Given the description of an element on the screen output the (x, y) to click on. 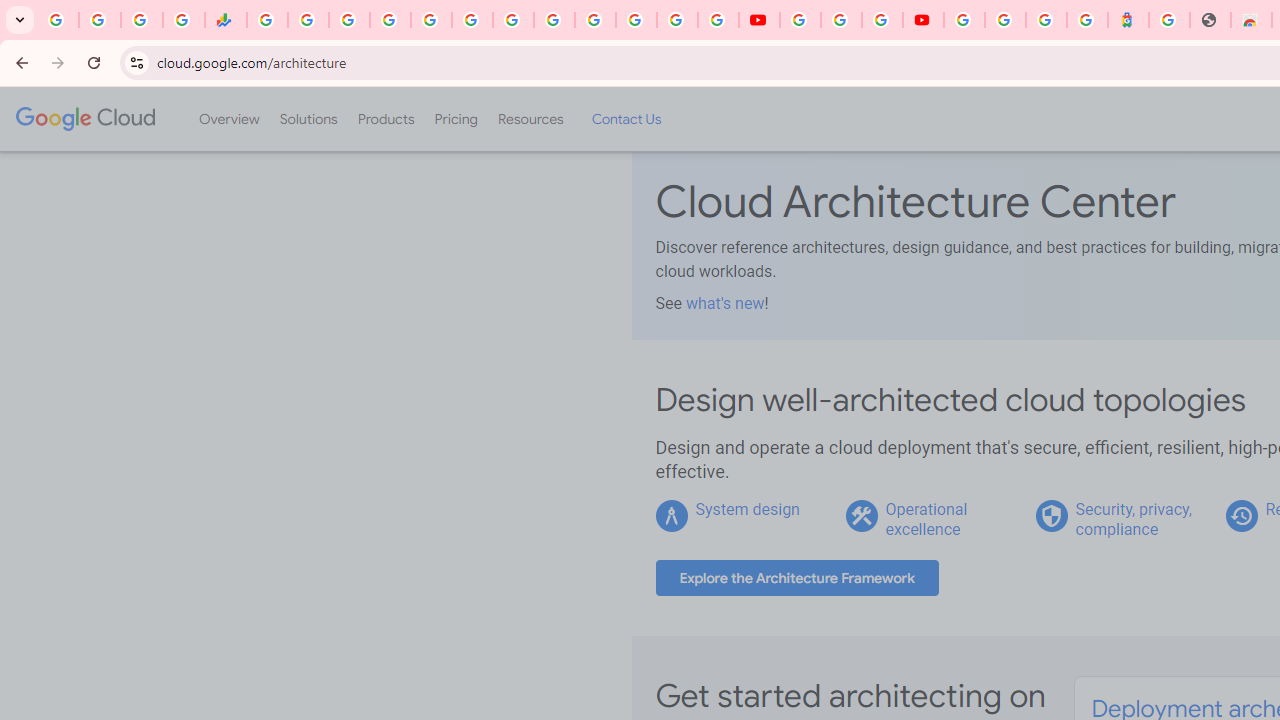
Sign in - Google Accounts (964, 20)
System design (747, 509)
Android TV Policies and Guidelines - Transparency Center (512, 20)
Privacy Checkup (717, 20)
YouTube (553, 20)
what's new (724, 303)
Security, privacy, compliance (1133, 519)
Explore the Architecture Framework (797, 578)
